Given the description of an element on the screen output the (x, y) to click on. 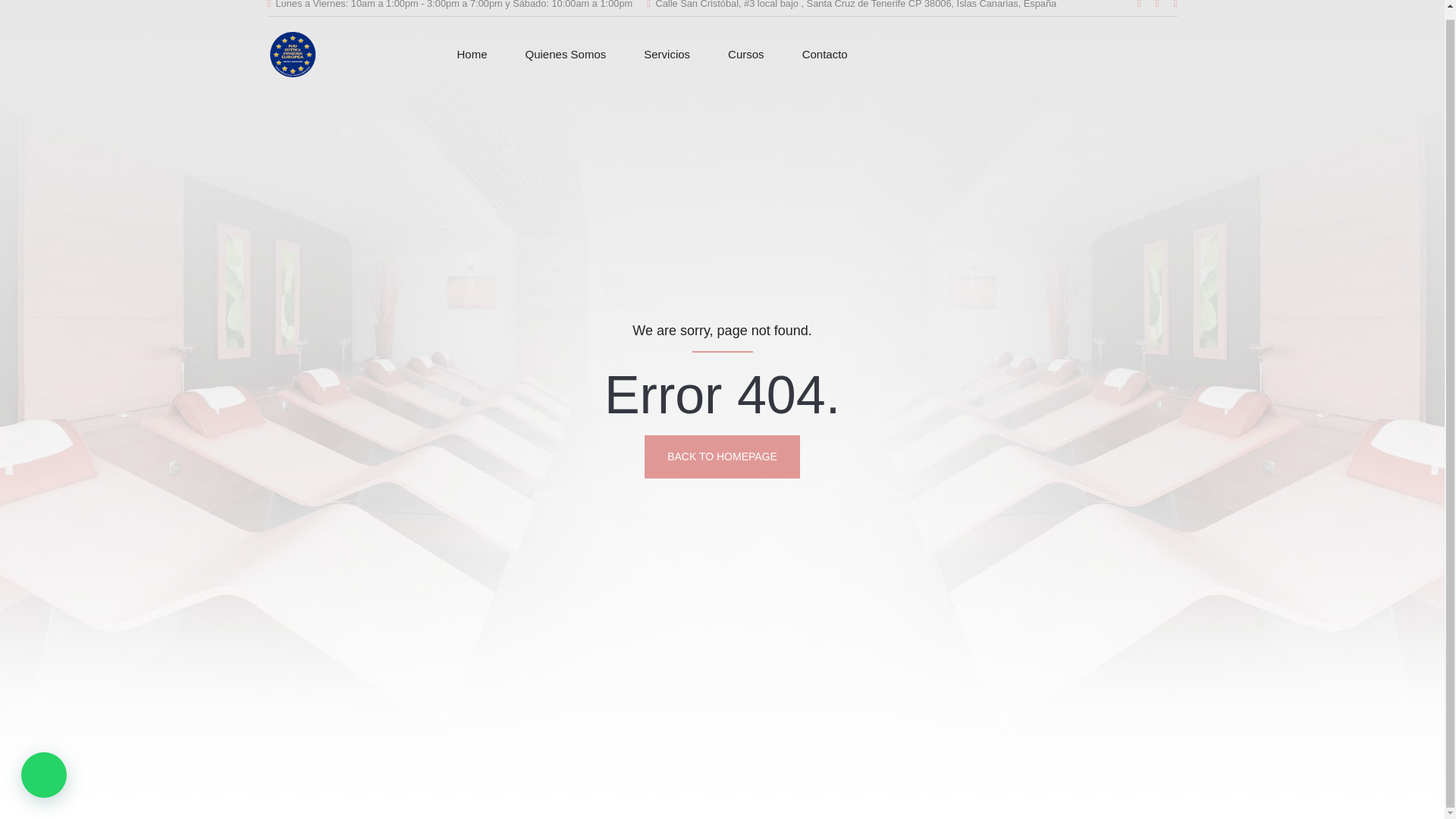
BACK TO HOMEPAGE (722, 456)
Quienes Somos (566, 54)
